Given the description of an element on the screen output the (x, y) to click on. 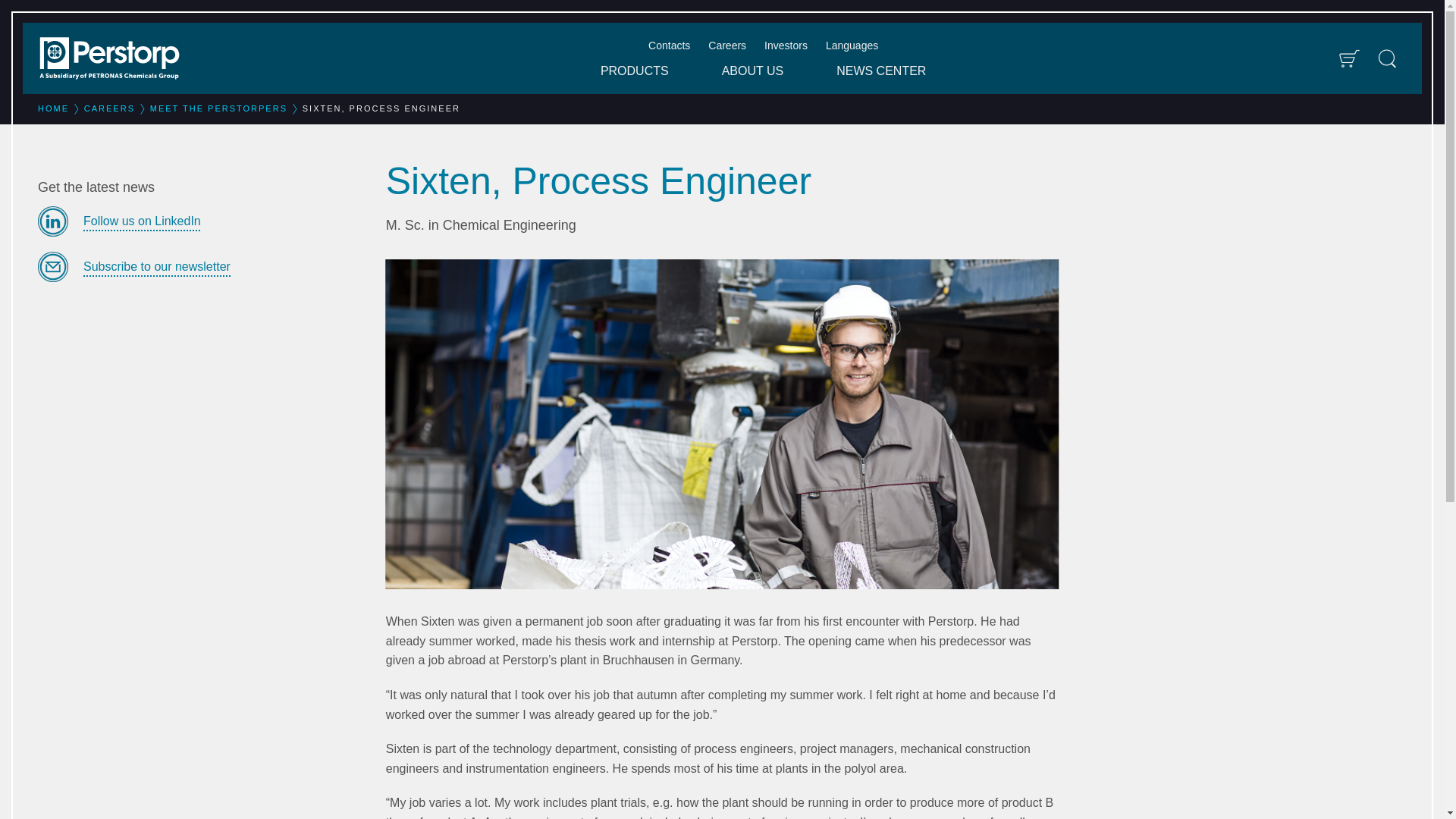
PRODUCTS (633, 71)
LinkedIn (199, 221)
Contacts (668, 45)
Careers (726, 45)
Languages (851, 45)
Investors (786, 45)
